Given the description of an element on the screen output the (x, y) to click on. 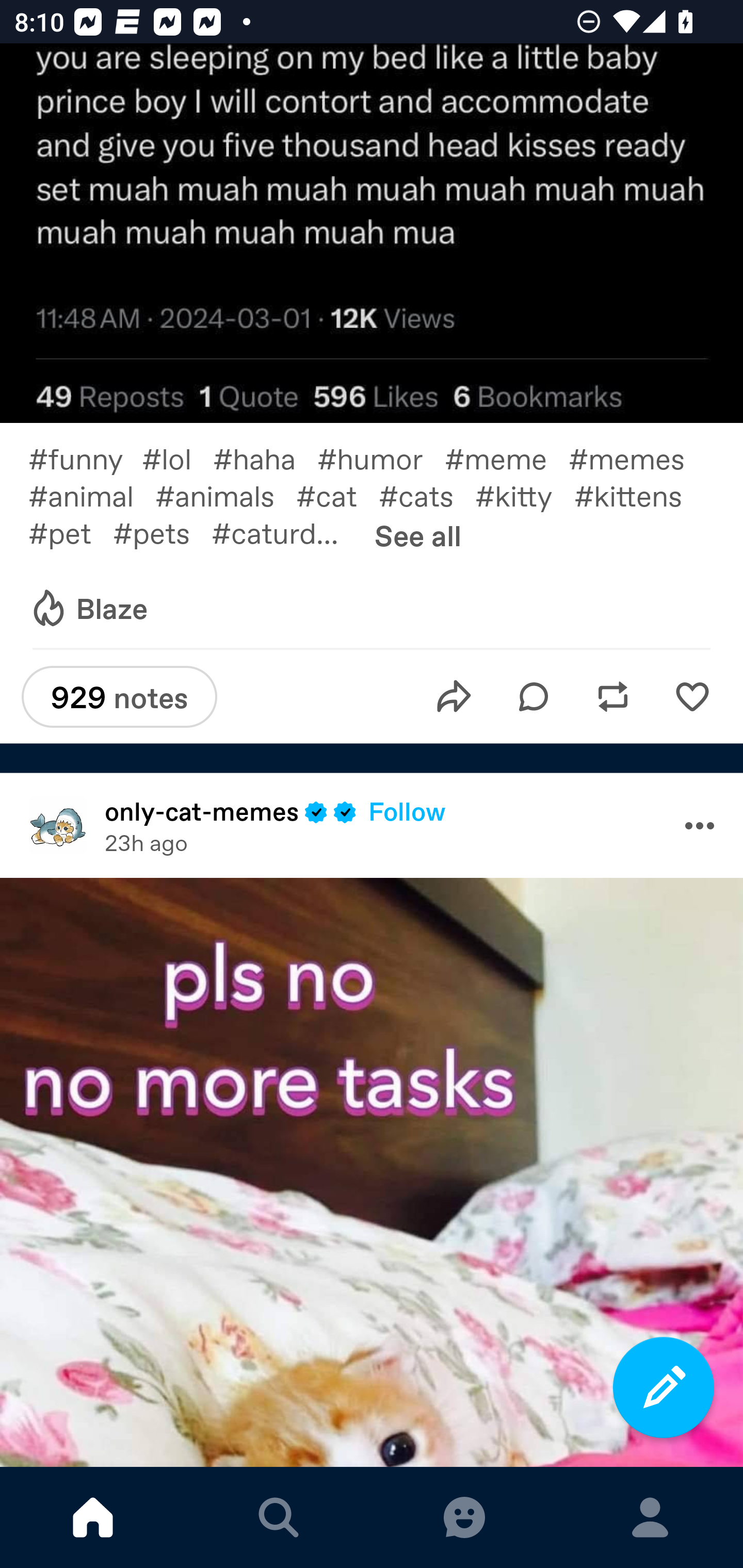
#funny (84, 457)
#lol (177, 457)
#haha (265, 457)
#humor (381, 457)
#meme (506, 457)
#memes (637, 457)
#animal (91, 495)
#animals (225, 495)
#cat (337, 495)
#cats (426, 495)
#kitty (524, 495)
#kittens (638, 495)
#pet (70, 532)
#pets (161, 532)
#caturd… (285, 532)
See all (417, 535)
Blaze Blaze Blaze (88, 608)
Share post to message (454, 696)
Reply (533, 696)
Reblog (612, 696)
Like (691, 696)
929 notes (118, 696)
Follow (406, 810)
Compose a new post (663, 1387)
DASHBOARD (92, 1517)
EXPLORE (278, 1517)
MESSAGES (464, 1517)
ACCOUNT (650, 1517)
